Given the description of an element on the screen output the (x, y) to click on. 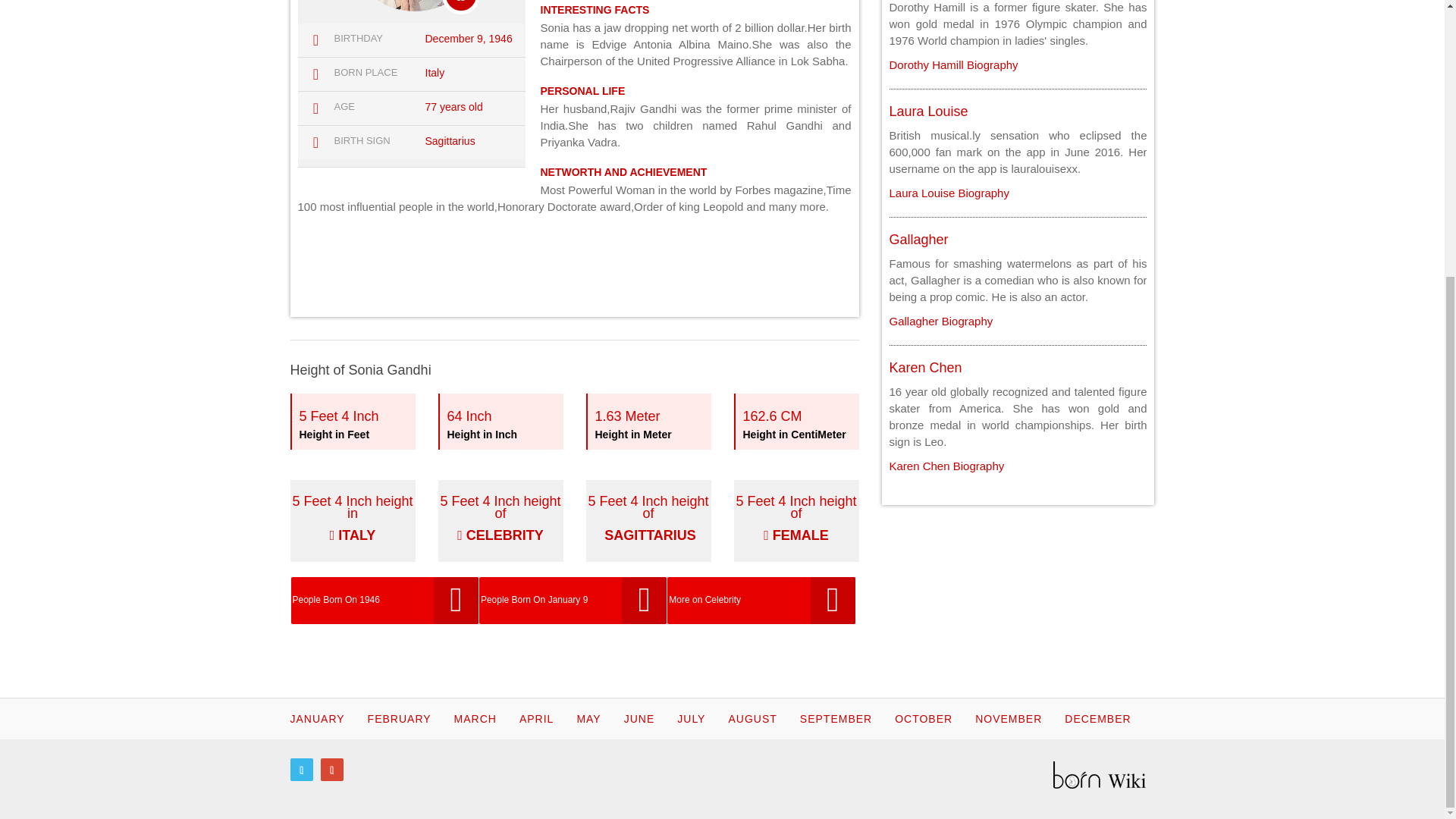
Advertisement (574, 264)
1946 (499, 38)
77 years old (351, 421)
Gallagher (453, 106)
Sagittarius (940, 320)
Italy (449, 141)
December 9, (434, 72)
JANUARY (647, 520)
Dorothy Hamill (454, 38)
Laura Louise (316, 718)
Karen Chen (952, 64)
Dorothy Hamill Biography (948, 192)
People Born On January 9 (924, 367)
